Given the description of an element on the screen output the (x, y) to click on. 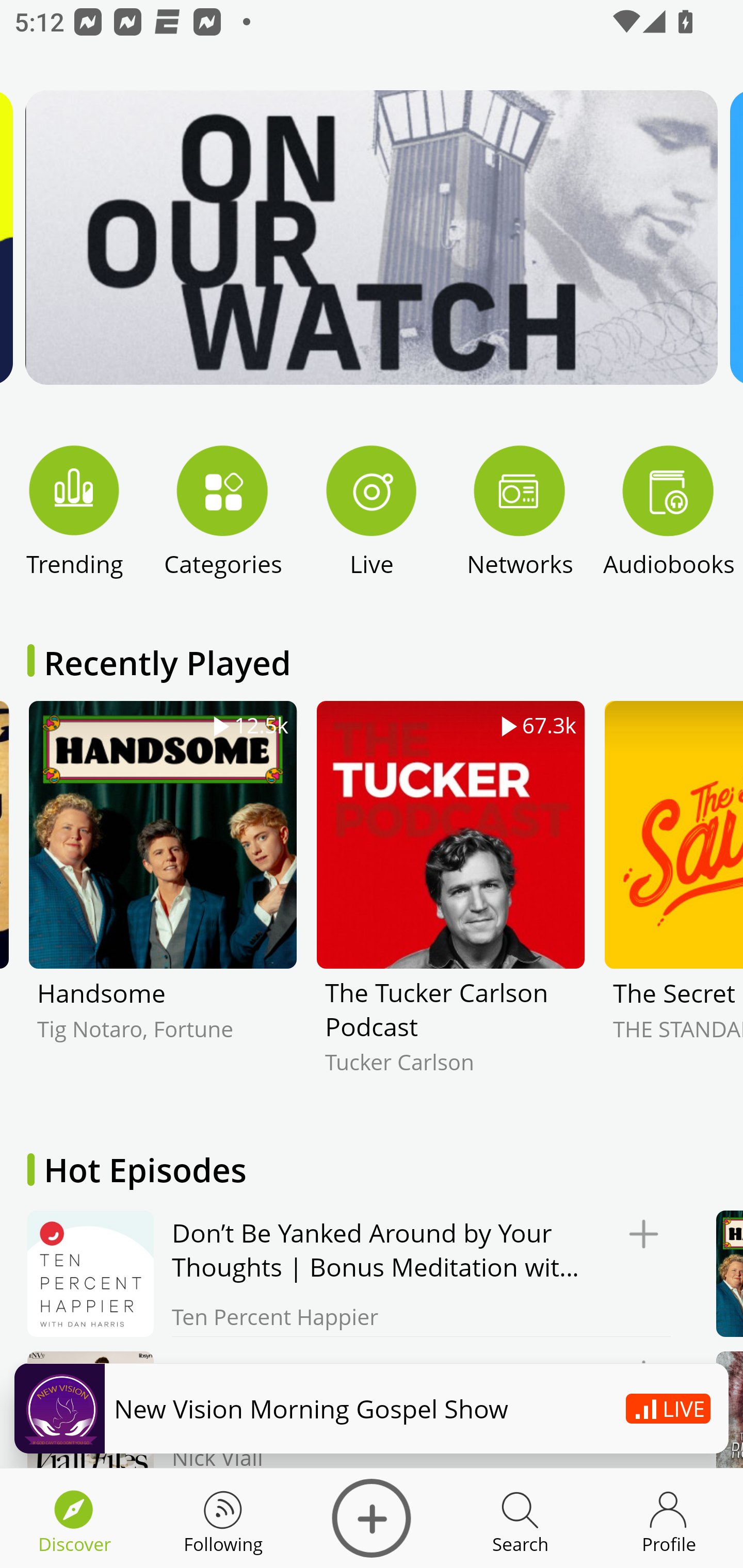
67.3k The Tucker Carlson Podcast Tucker Carlson (450, 902)
The Secret Sauce THE STANDARD (673, 902)
Podbean New Vision Morning Gospel Show LIVE (371, 1407)
Discover Following (222, 1518)
Discover (371, 1518)
Discover Search (519, 1518)
Discover Profile (668, 1518)
